Given the description of an element on the screen output the (x, y) to click on. 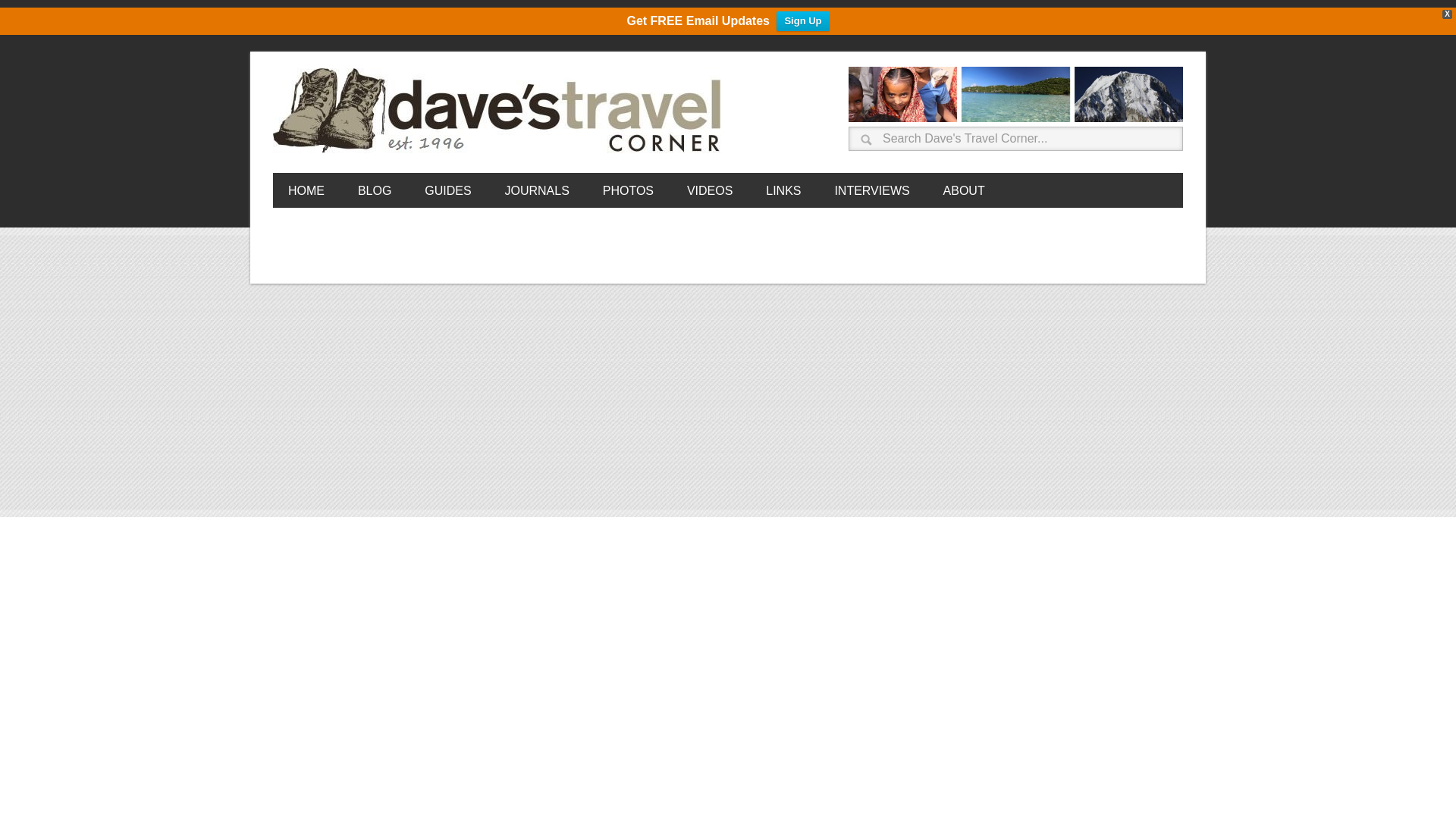
INTERVIEWS (871, 190)
JOURNALS (536, 190)
HOME (306, 190)
PHOTOS (628, 190)
VIDEOS (709, 190)
GUIDES (447, 190)
DAVE'S TRAVEL CORNER (500, 110)
LINKS (783, 190)
ABOUT (964, 190)
Sign Up (802, 21)
BLOG (374, 190)
